Given the description of an element on the screen output the (x, y) to click on. 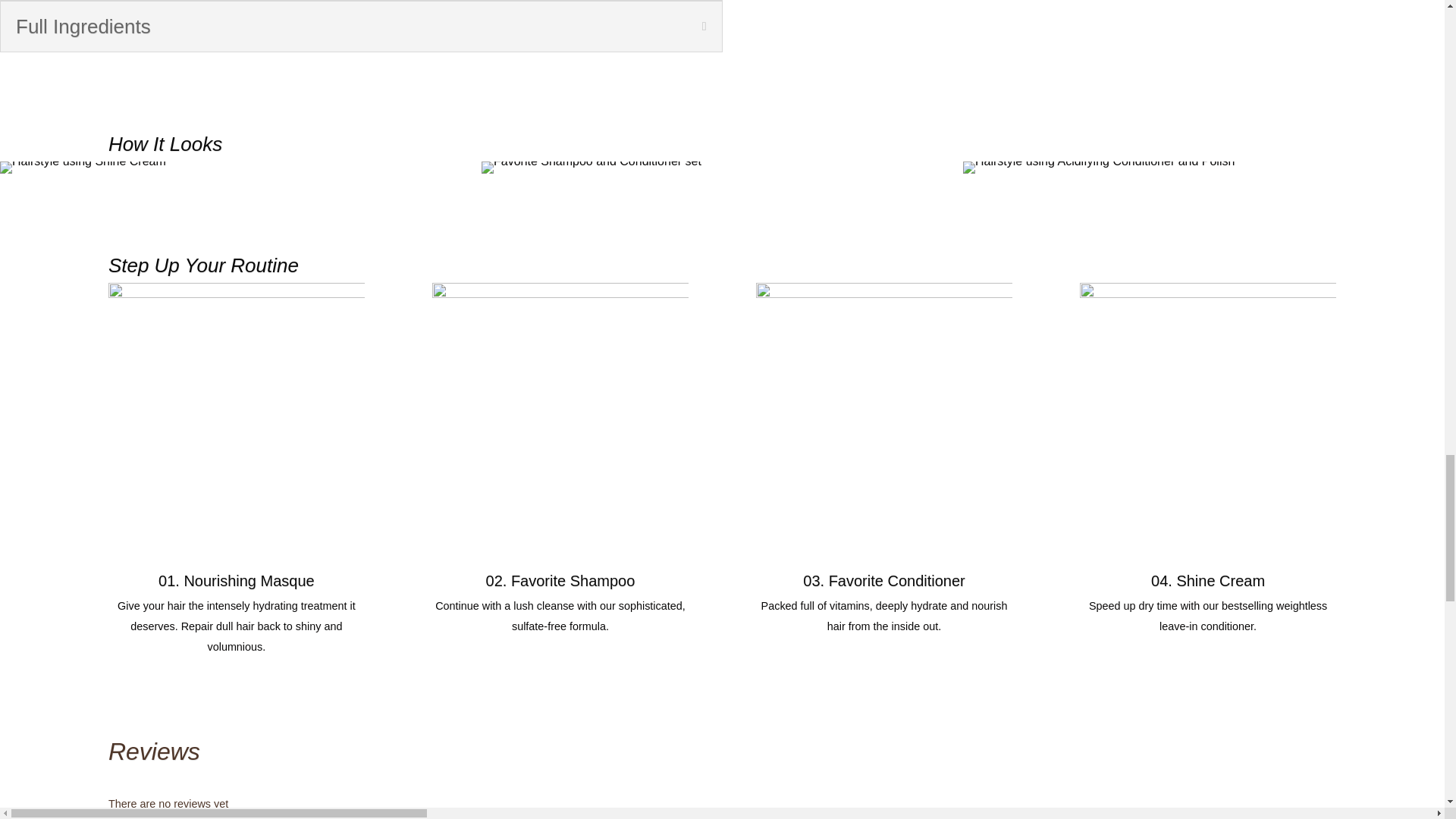
barbara-wash (1098, 167)
favduo-studio (591, 167)
12889 (82, 167)
